Given the description of an element on the screen output the (x, y) to click on. 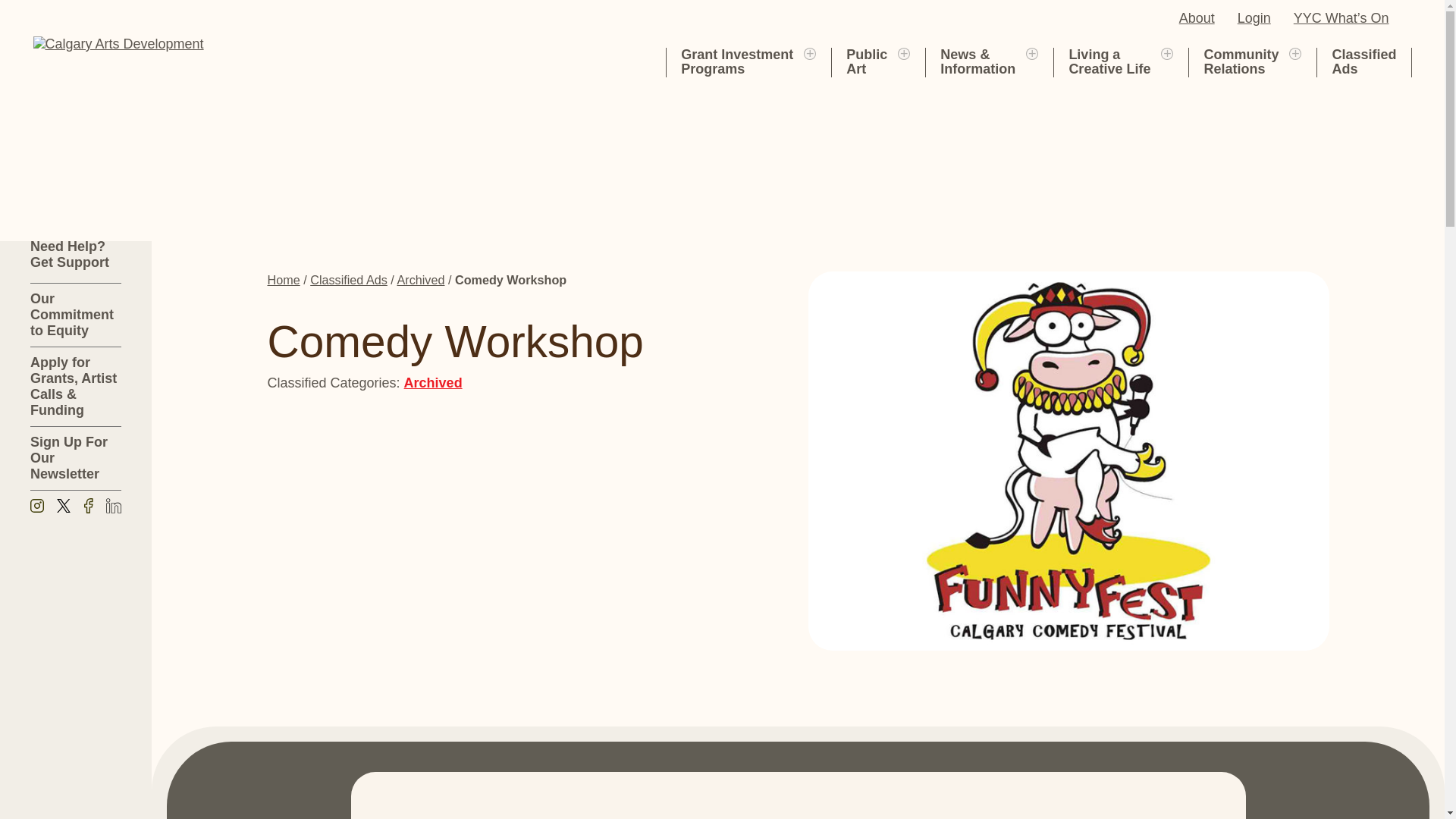
Login (865, 61)
About (1254, 17)
Expand Grant Investment Programs Submenu (1196, 17)
Expand Public Art Submenu (1241, 61)
Expand Living a Creative Life Submenu (809, 52)
Expand Community Relations Submenu (1109, 61)
Archived (737, 61)
